Given the description of an element on the screen output the (x, y) to click on. 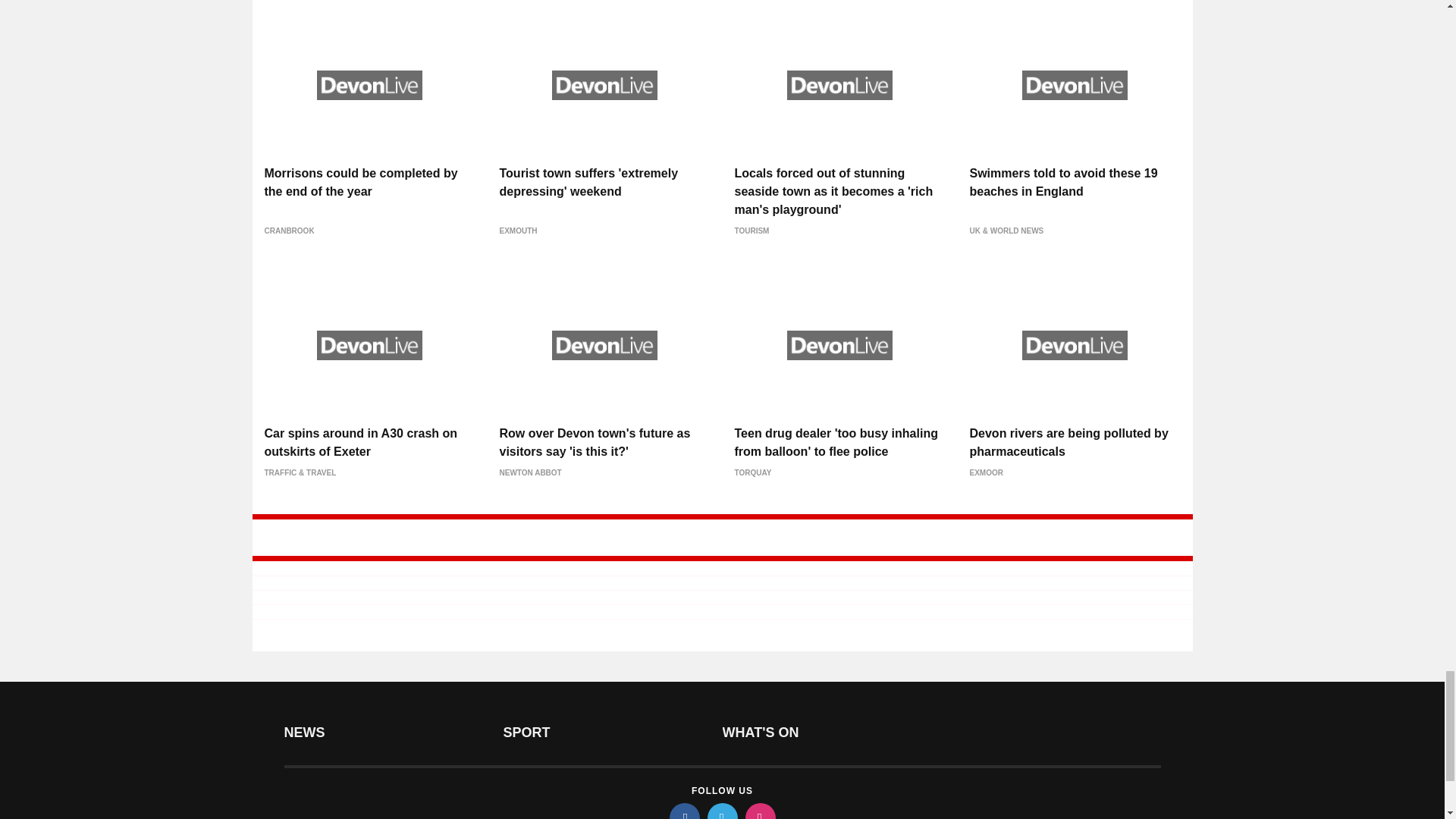
twitter (721, 811)
facebook (683, 811)
instagram (759, 811)
